Given the description of an element on the screen output the (x, y) to click on. 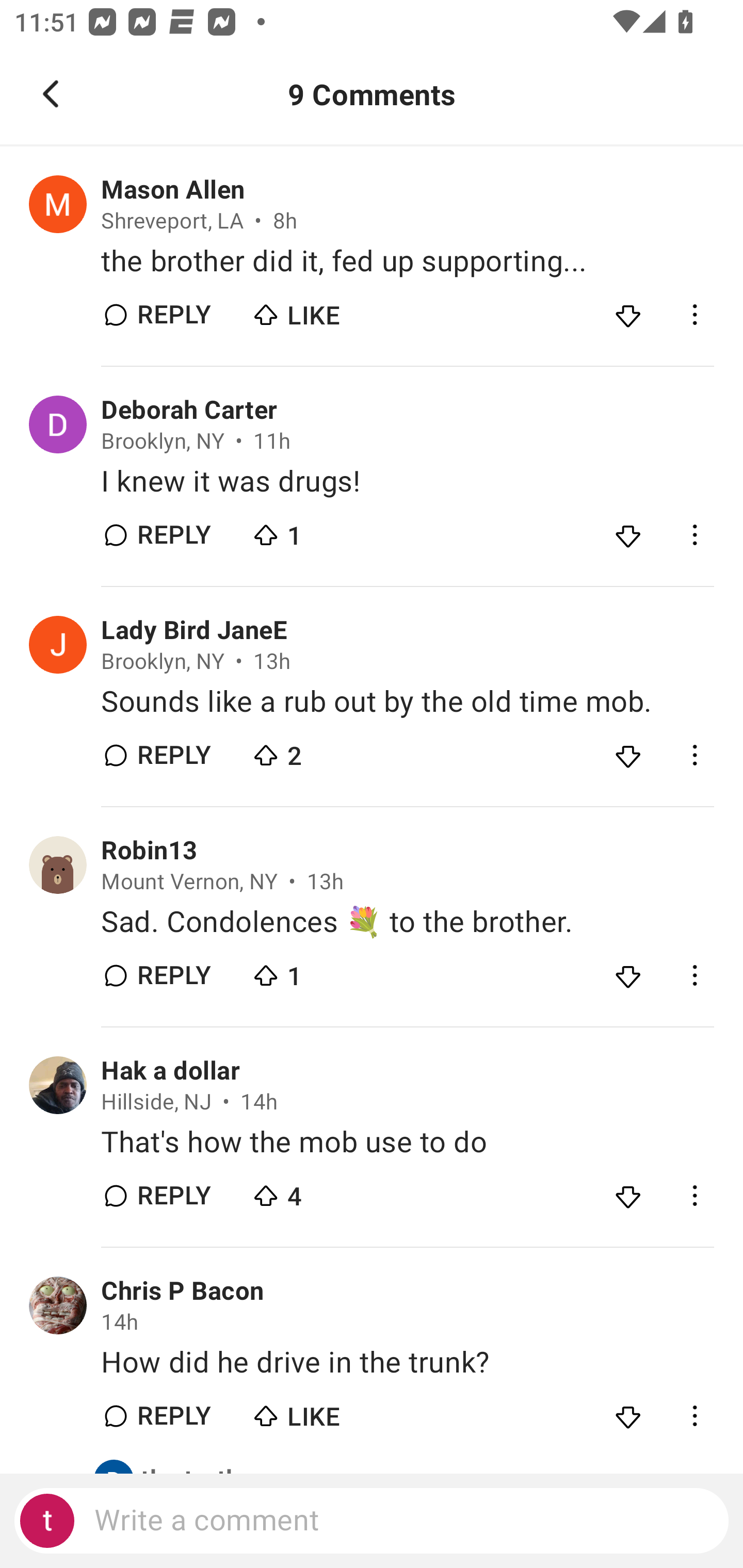
Navigate up (50, 93)
Mason Allen (173, 190)
the brother did it, fed up supporting... (407, 261)
LIKE (320, 310)
REPLY (173, 314)
Deborah Carter (189, 409)
I knew it was drugs! (407, 481)
1 (320, 530)
REPLY (173, 535)
Lady Bird JaneE (194, 631)
Sounds like a rub out by the old time mob. (407, 702)
2 (320, 750)
REPLY (173, 754)
Robin13 (149, 850)
Sad. Condolences 💐 to the brother. (407, 921)
1 (320, 971)
REPLY (173, 976)
Hak a dollar (170, 1070)
That's how the mob use to do  (407, 1141)
4 (320, 1190)
REPLY (173, 1195)
Chris P Bacon (182, 1291)
How did he drive in the trunk? (407, 1362)
LIKE (320, 1411)
REPLY (173, 1416)
Write a comment (371, 1520)
